Given the description of an element on the screen output the (x, y) to click on. 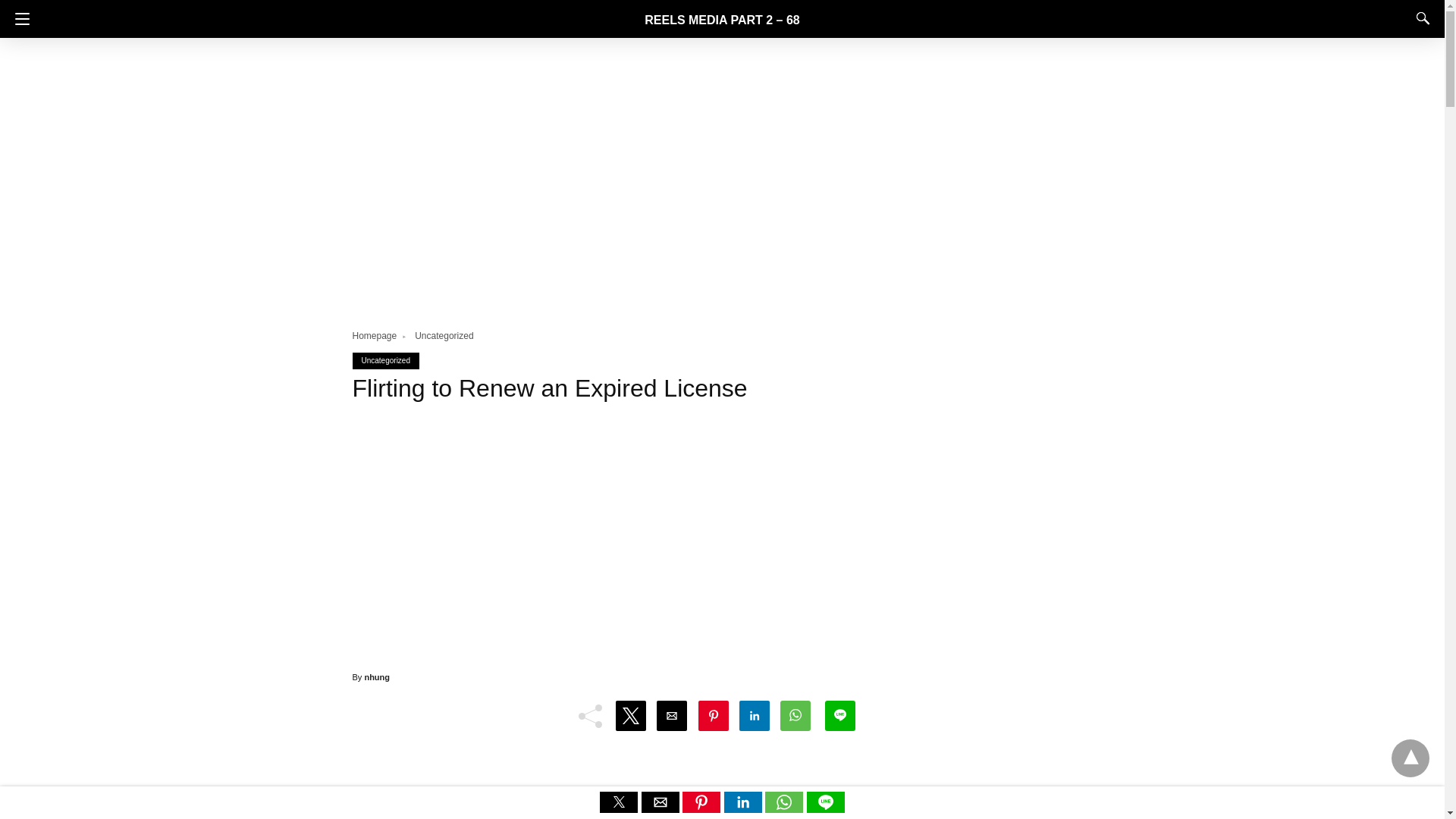
whatsapp share (785, 808)
back to top (1410, 758)
Homepage (381, 335)
Homepage (381, 335)
nhung (377, 676)
Uncategorized (443, 335)
Uncategorized (443, 335)
Uncategorized (384, 359)
